Given the description of an element on the screen output the (x, y) to click on. 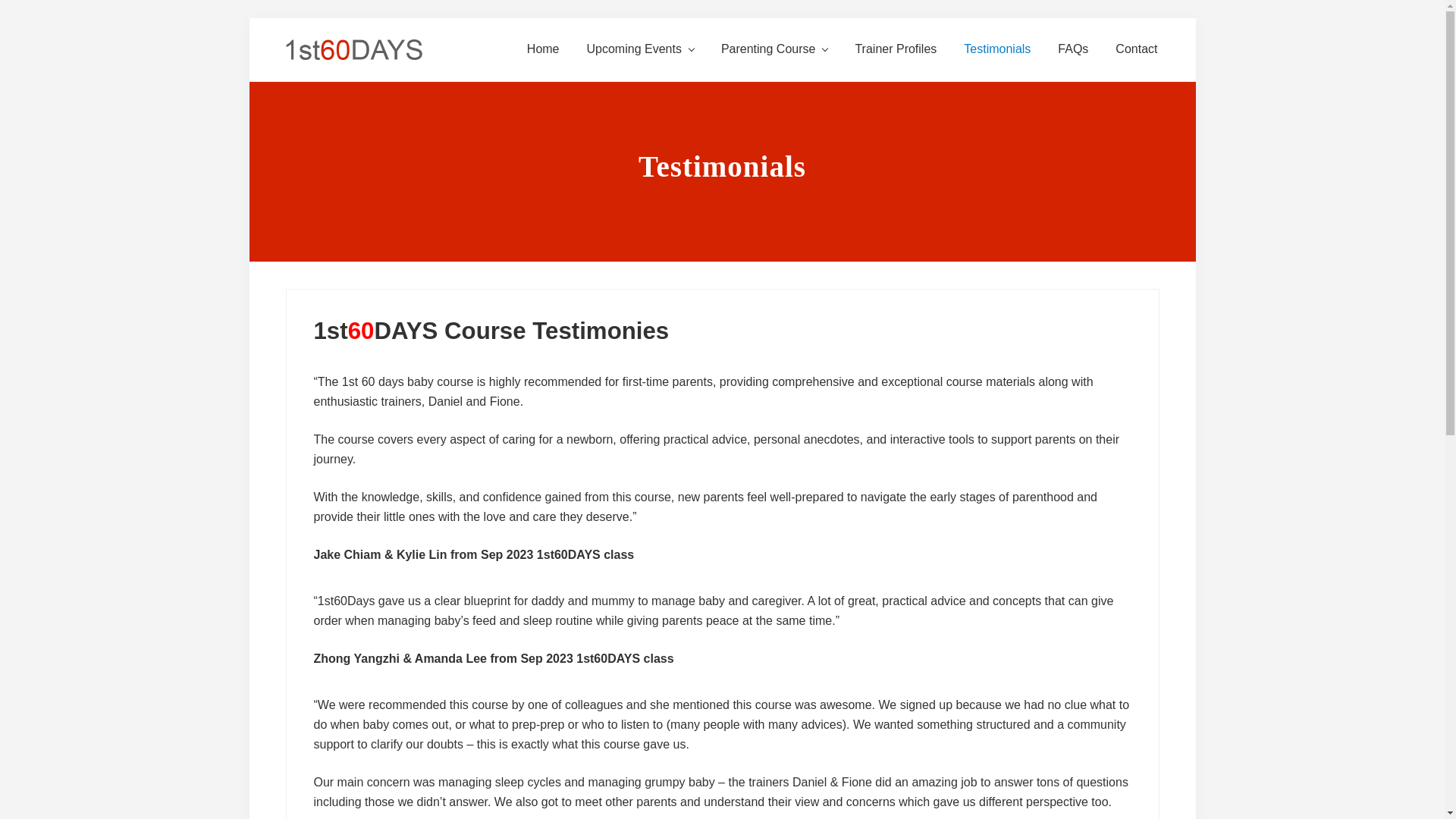
Testimonials (997, 49)
FAQs (1072, 49)
Home (543, 49)
Parenting Course (774, 49)
Contact (1136, 49)
Upcoming Events (640, 49)
Trainer Profiles (896, 49)
